Given the description of an element on the screen output the (x, y) to click on. 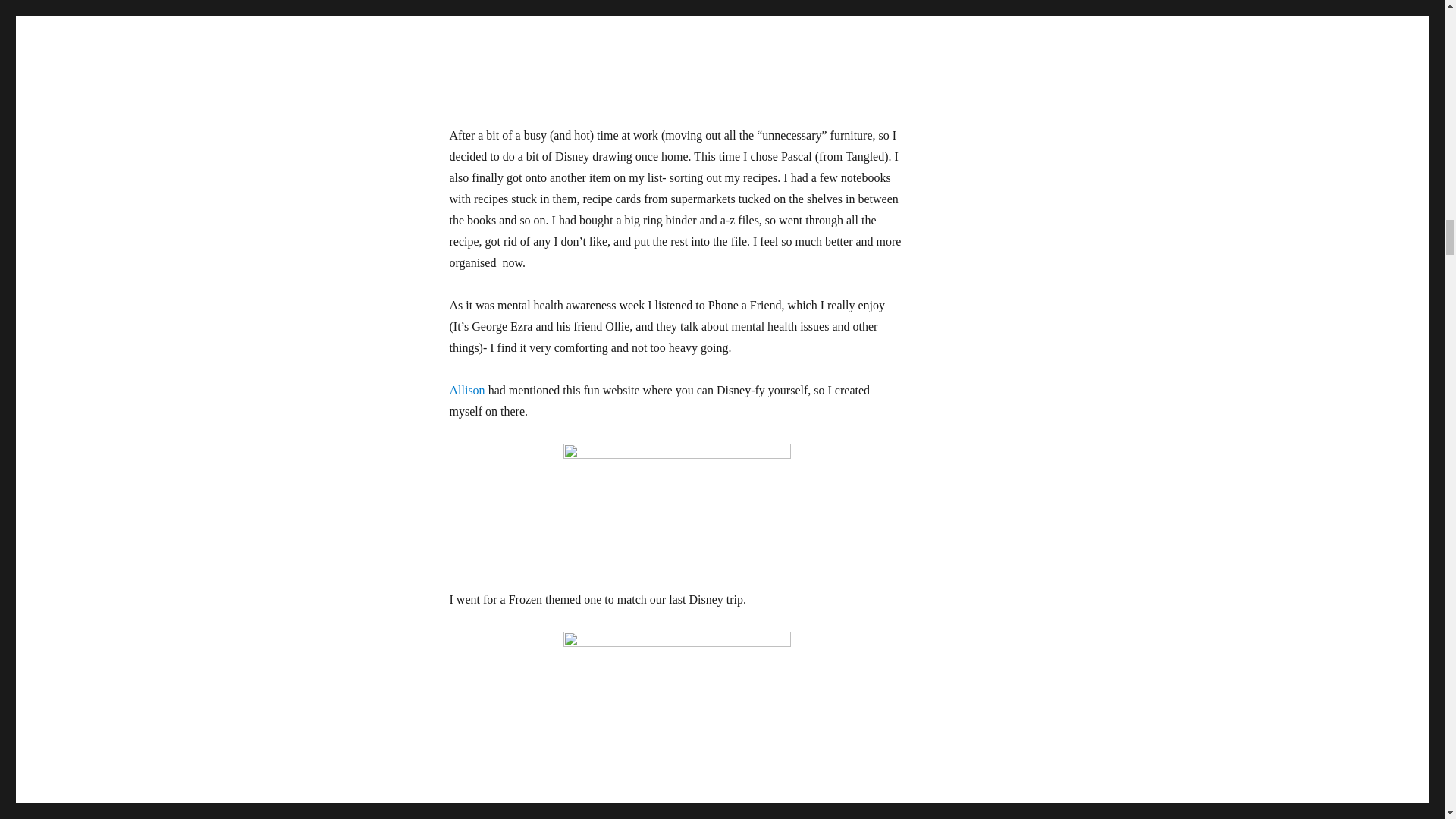
Allison (466, 390)
